Given the description of an element on the screen output the (x, y) to click on. 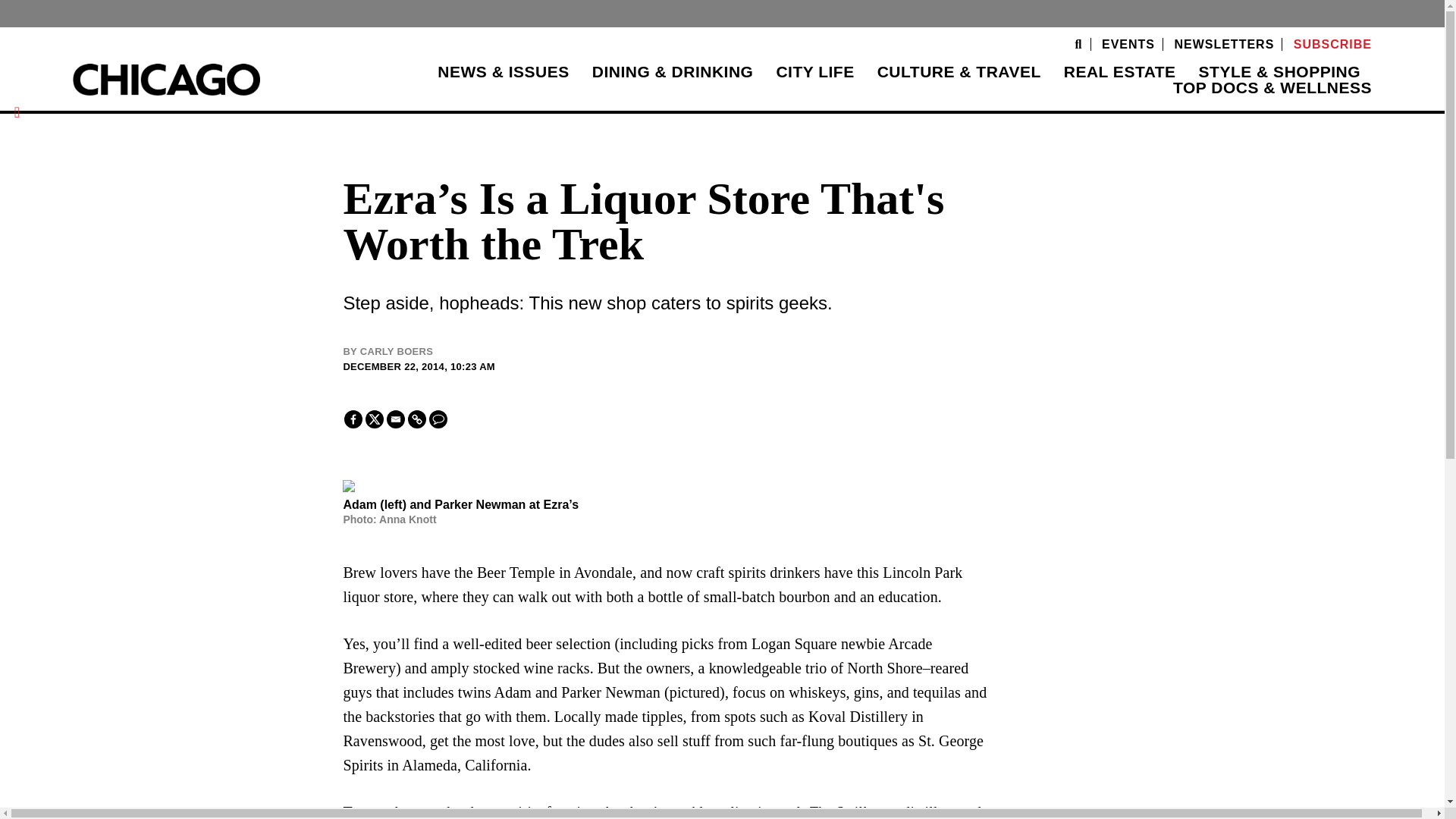
Facebook (352, 419)
EVENTS (1128, 43)
comment (437, 419)
X (374, 419)
Copy Link (416, 419)
Email (395, 419)
NEWSLETTERS (1224, 43)
